Given the description of an element on the screen output the (x, y) to click on. 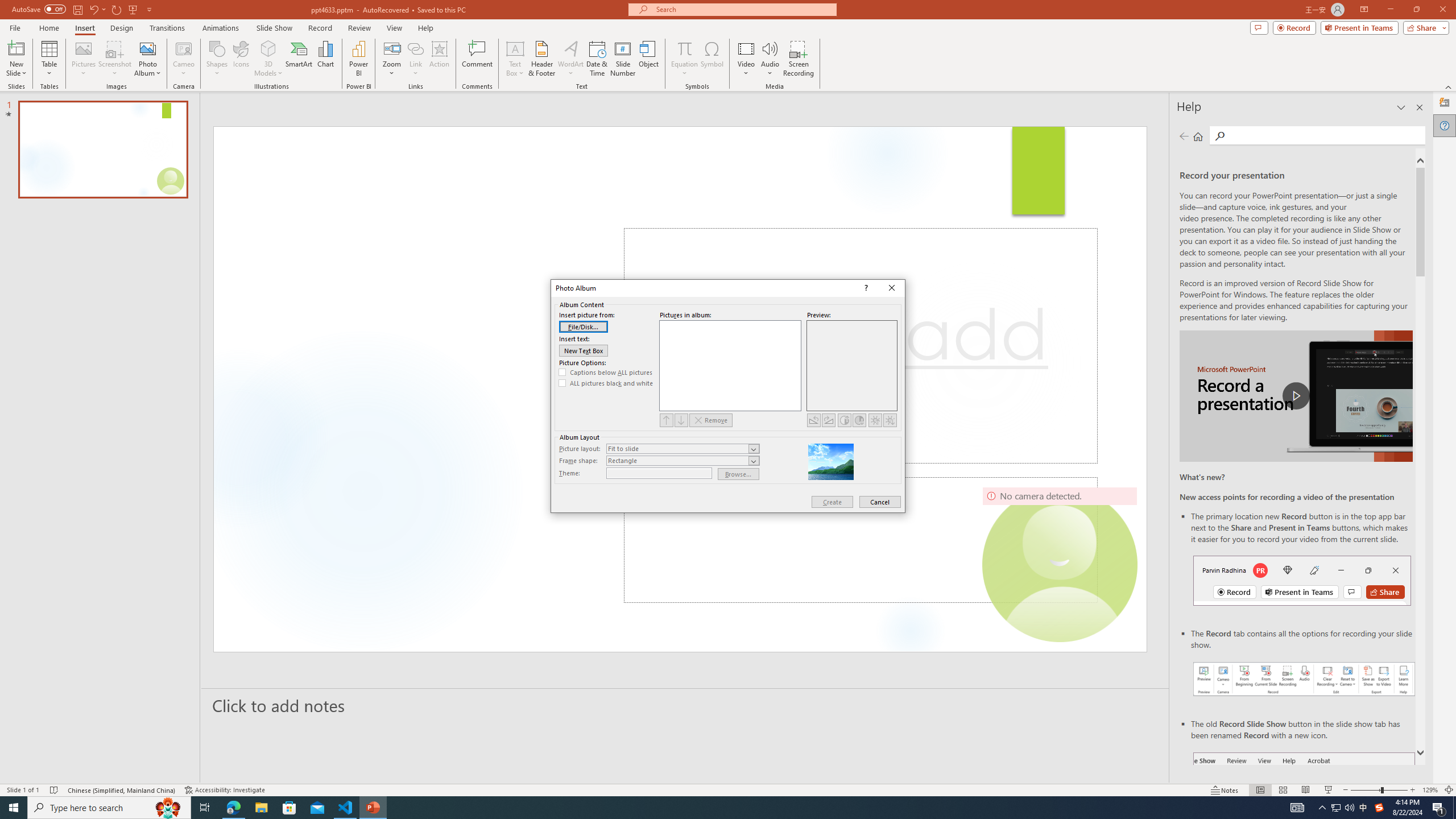
Next Item (681, 419)
3D Models (268, 48)
